Given the description of an element on the screen output the (x, y) to click on. 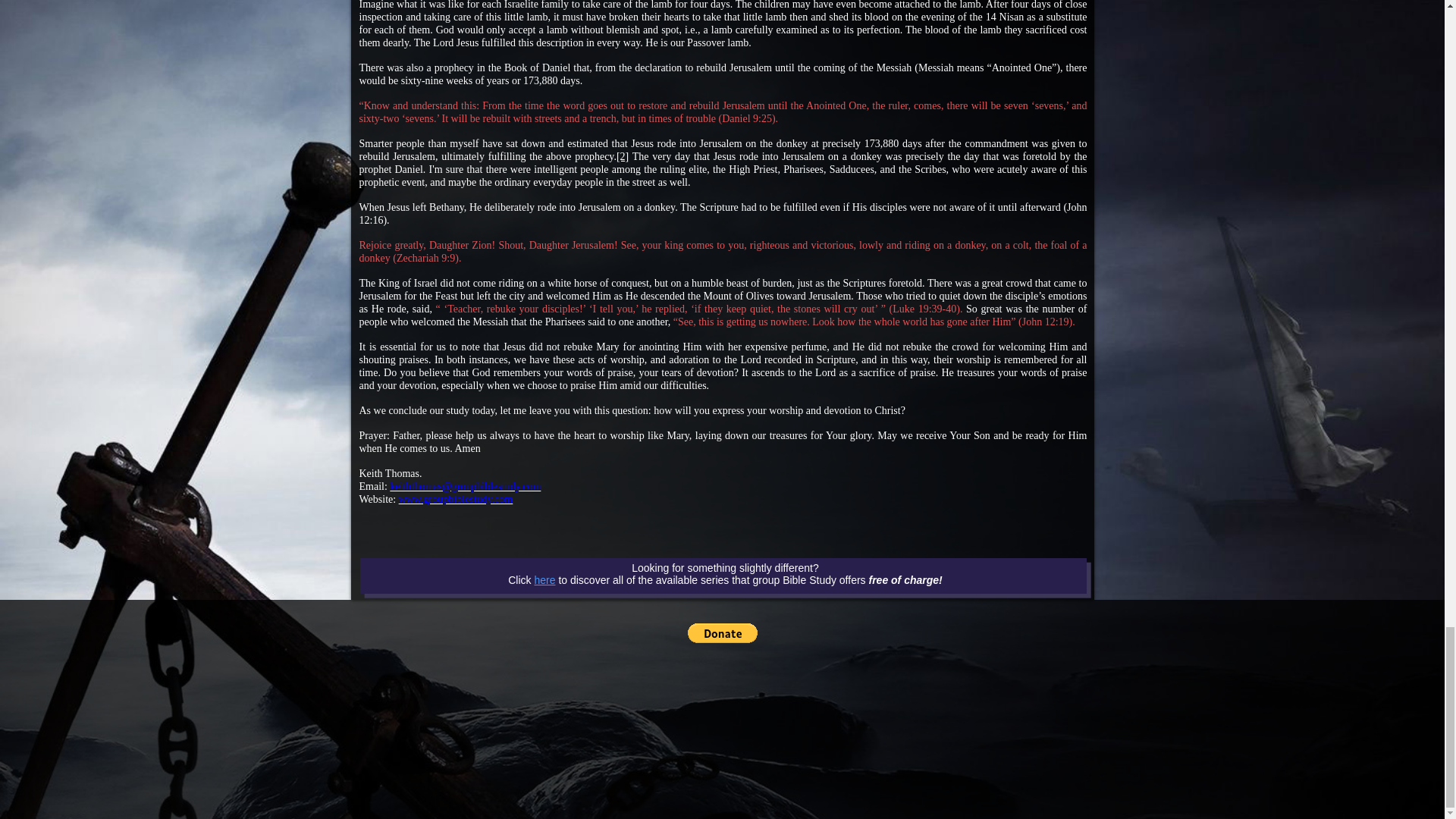
www.groupbiblestudy.com (455, 499)
here (544, 580)
